Given the description of an element on the screen output the (x, y) to click on. 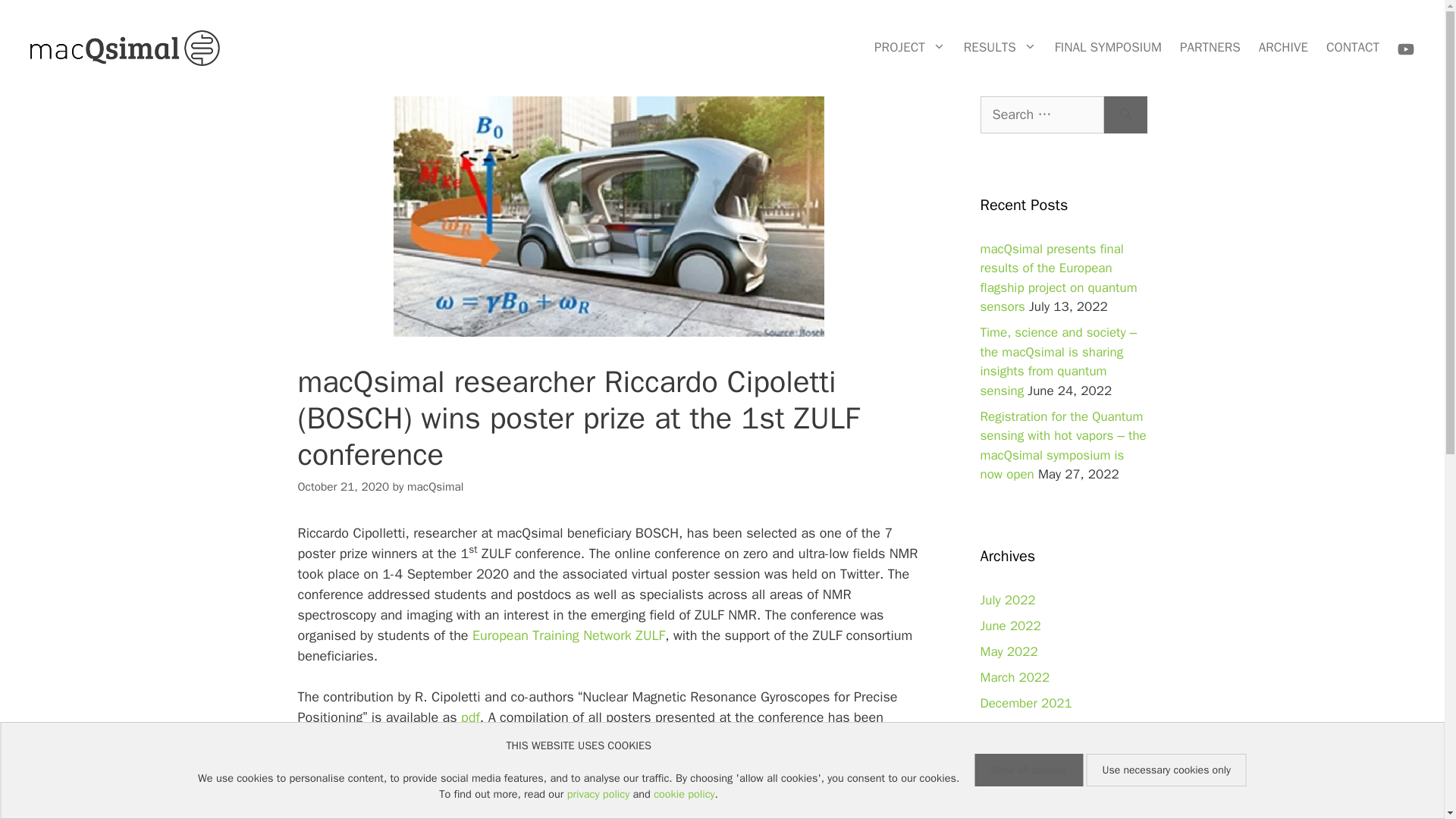
privacy policy (597, 793)
ARCHIVE (1283, 47)
Search for: (1041, 114)
CONTACT (1353, 47)
PARTNERS (1209, 47)
Allow all cookies (1028, 769)
Use necessary cookies only (1166, 769)
RESULTS (1000, 47)
cookie policy (683, 793)
FINAL SYMPOSIUM (1107, 47)
PROJECT (909, 47)
View all posts by macQsimal (435, 486)
